Given the description of an element on the screen output the (x, y) to click on. 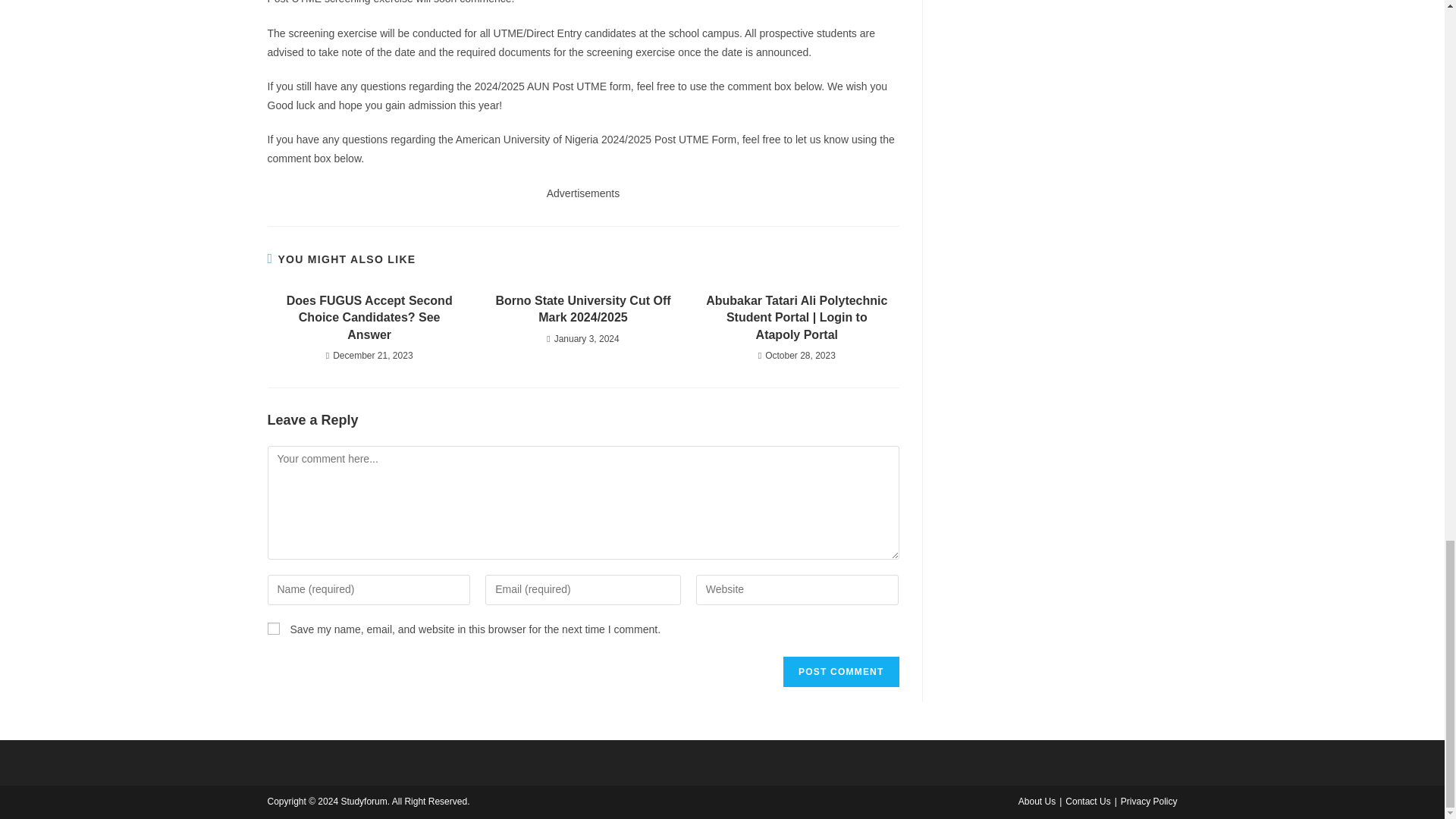
Post Comment (840, 671)
Contact Us (1087, 801)
Post Comment (840, 671)
yes (272, 628)
Does FUGUS Accept Second Choice Candidates? See Answer (368, 317)
Privacy Policy (1149, 801)
About Us (1036, 801)
